Given the description of an element on the screen output the (x, y) to click on. 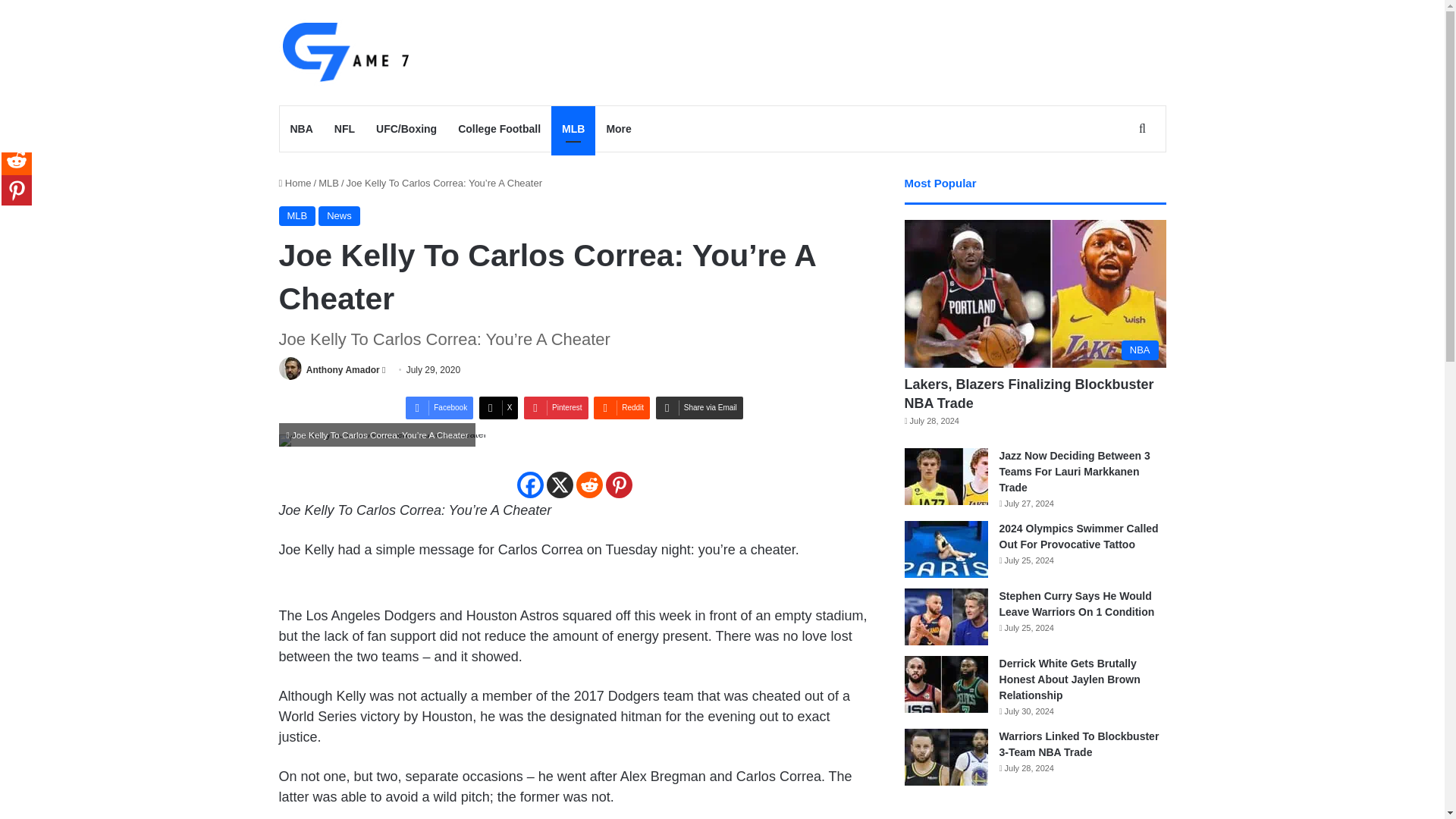
Pinterest (618, 484)
Anthony Amador (342, 369)
Facebook (439, 407)
Home (295, 183)
College Football (498, 128)
Anthony Amador (342, 369)
Facebook (439, 407)
Facebook (529, 484)
Pinterest (556, 407)
MLB (297, 216)
NBA (301, 128)
Share via Email (699, 407)
MLB (328, 183)
Share via Email (699, 407)
